Given the description of an element on the screen output the (x, y) to click on. 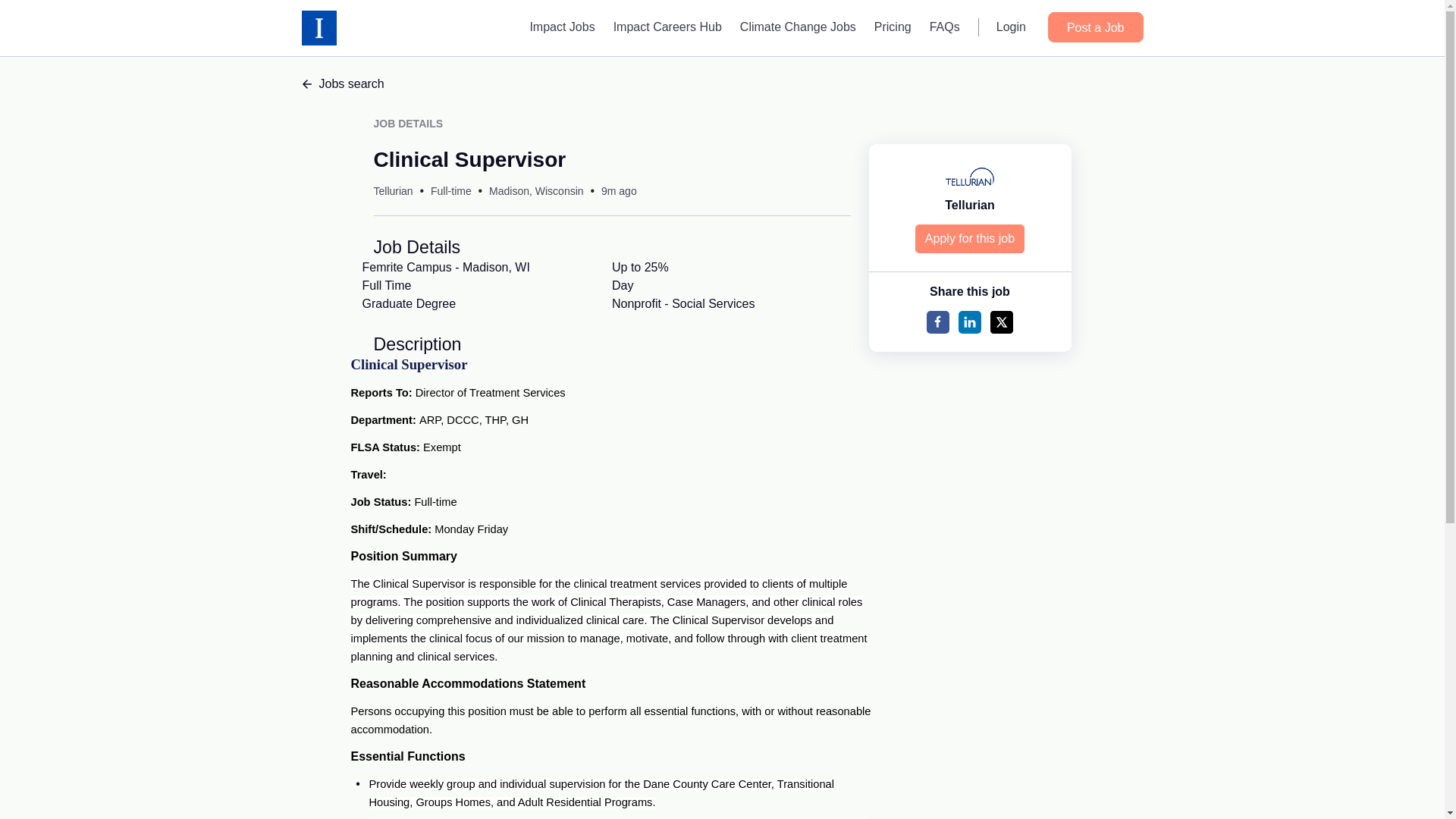
Impact Jobs (561, 26)
Login (1011, 26)
Tellurian (392, 191)
Full-time (450, 191)
Post a Job (1095, 27)
Jobs search (721, 84)
Apply for this job (970, 238)
Tellurian (969, 205)
Madison, Wisconsin (536, 191)
Pricing (892, 26)
Share to Twitter (1001, 322)
Climate Change Jobs (797, 26)
Share to Linkedin (969, 322)
FAQs (944, 26)
Share to FB (937, 322)
